Given the description of an element on the screen output the (x, y) to click on. 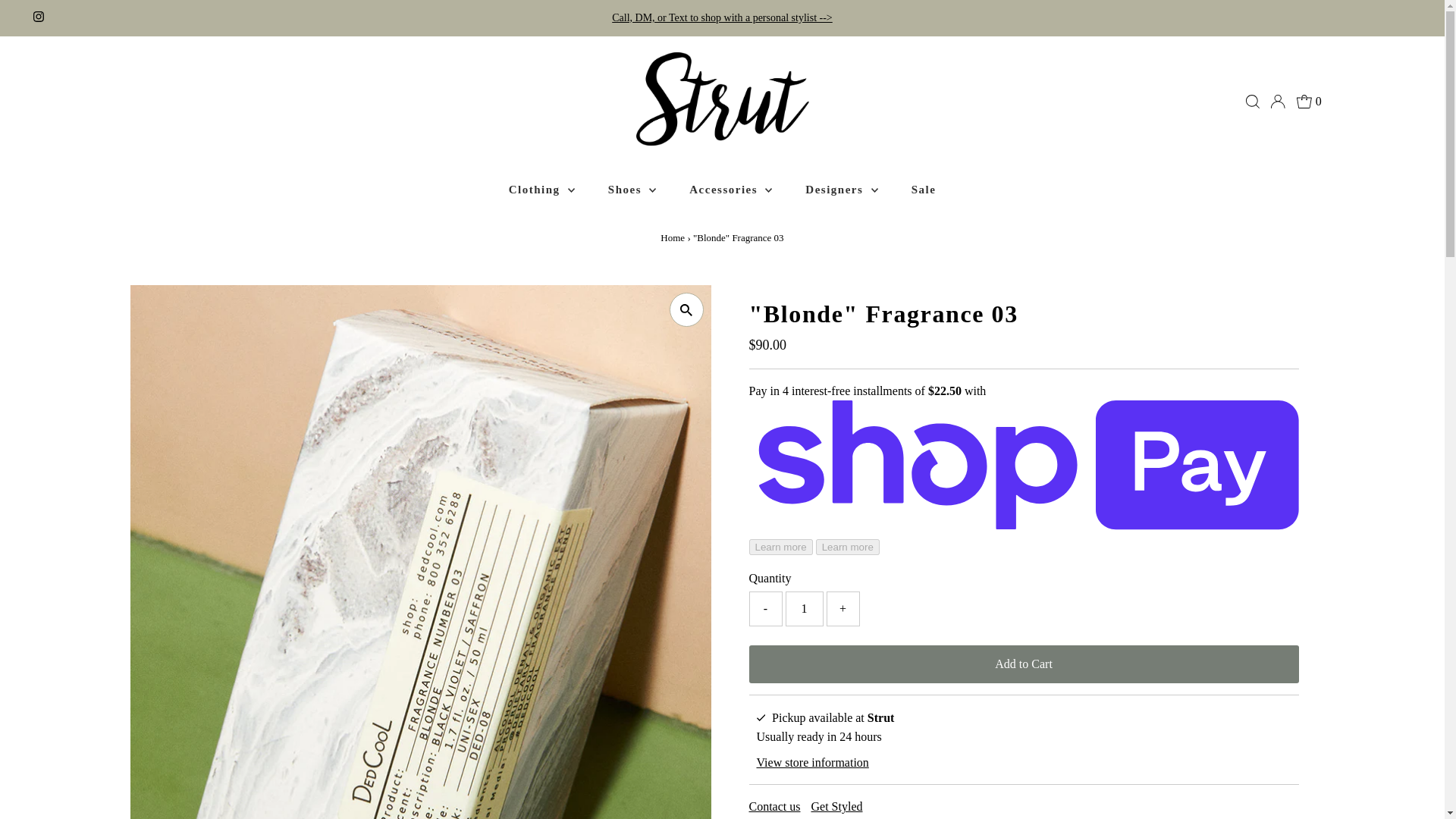
1 (805, 608)
Contact Us (721, 17)
Home (672, 237)
Add to Cart (1023, 664)
Click to zoom (685, 309)
